Given the description of an element on the screen output the (x, y) to click on. 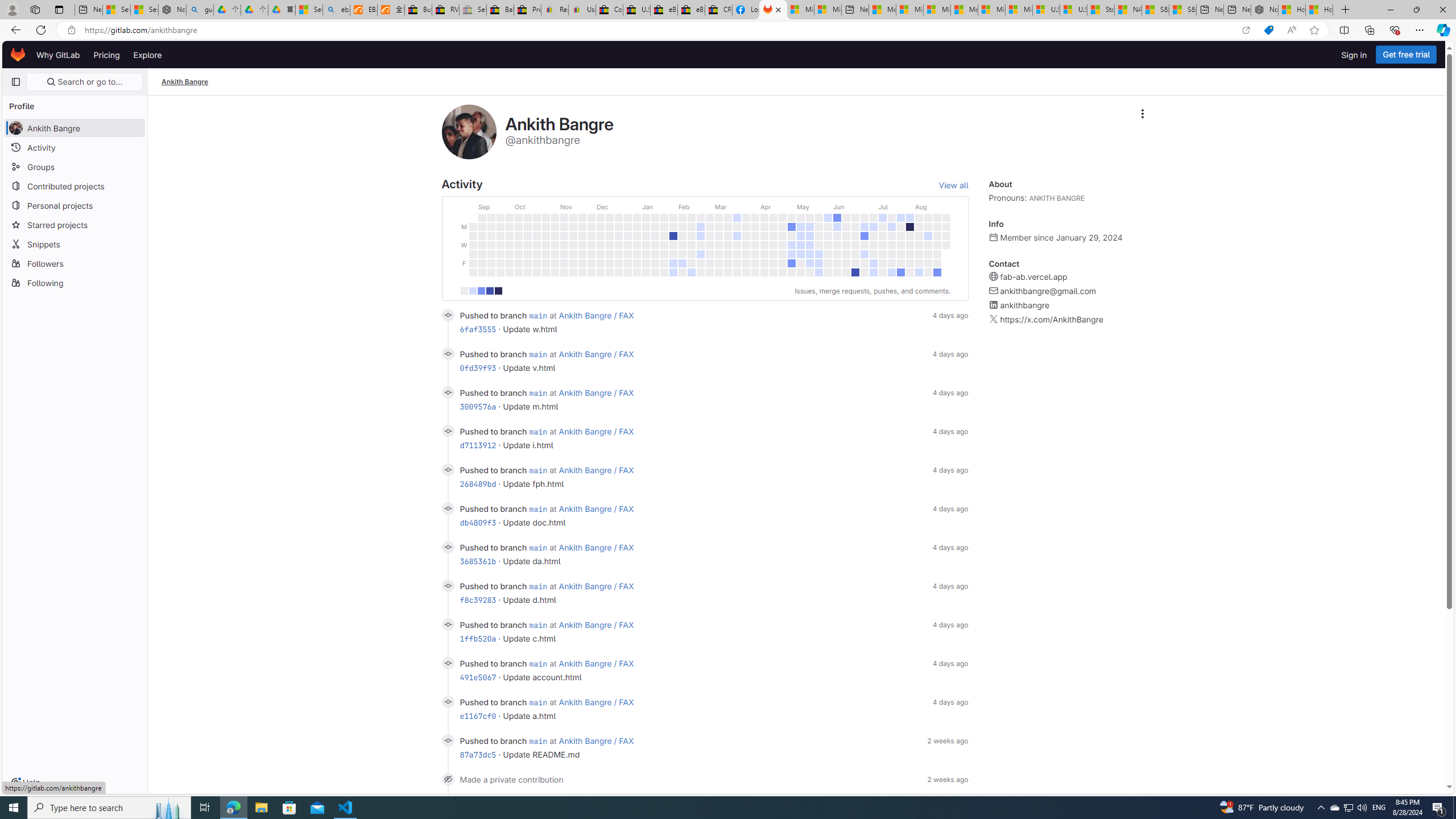
30+ contributions (497, 290)
Class: s16 gl-fill-icon-subtle gl-mt-1 flex-shrink-0 (993, 319)
Baby Keepsakes & Announcements for sale | eBay (499, 9)
RV, Trailer & Camper Steps & Ladders for sale | eBay (445, 9)
Open in app (1245, 29)
